Given the description of an element on the screen output the (x, y) to click on. 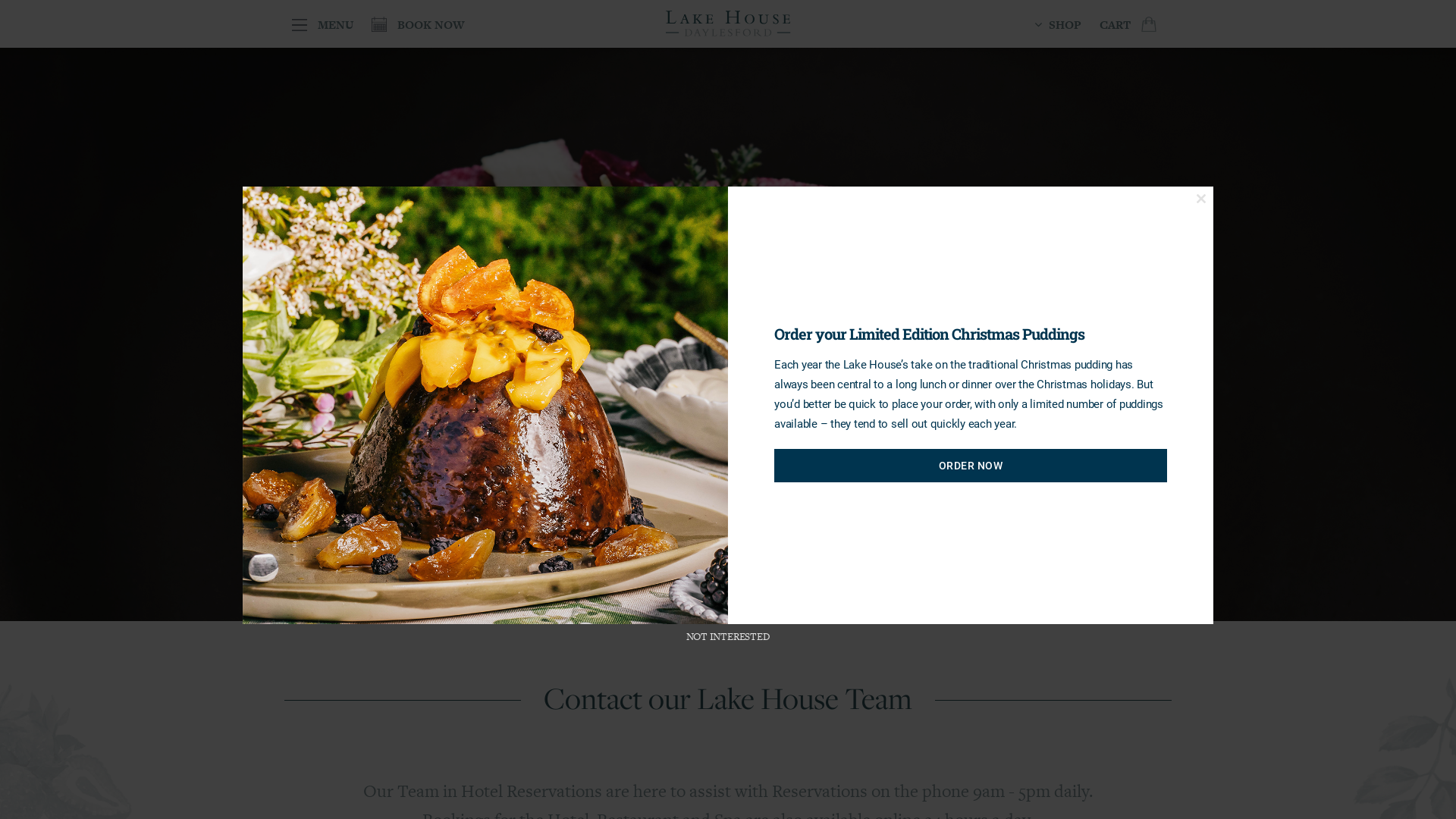
SHOP Element type: text (1057, 23)
BOOK A TABLE Element type: text (341, 383)
5 Element type: text (727, 582)
1 Element type: text (673, 582)
2 Element type: text (686, 582)
MENU Element type: text (322, 23)
NOT INTERESTED Element type: text (728, 636)
Close this module Element type: text (1201, 198)
6 Element type: text (741, 582)
7 Element type: text (755, 582)
3 Element type: text (700, 582)
ORDER NOW Element type: text (970, 465)
BOOK NOW Element type: text (417, 23)
CART Element type: text (1131, 23)
8 Element type: text (768, 582)
4 Element type: text (714, 582)
9 Element type: text (782, 582)
